Given the description of an element on the screen output the (x, y) to click on. 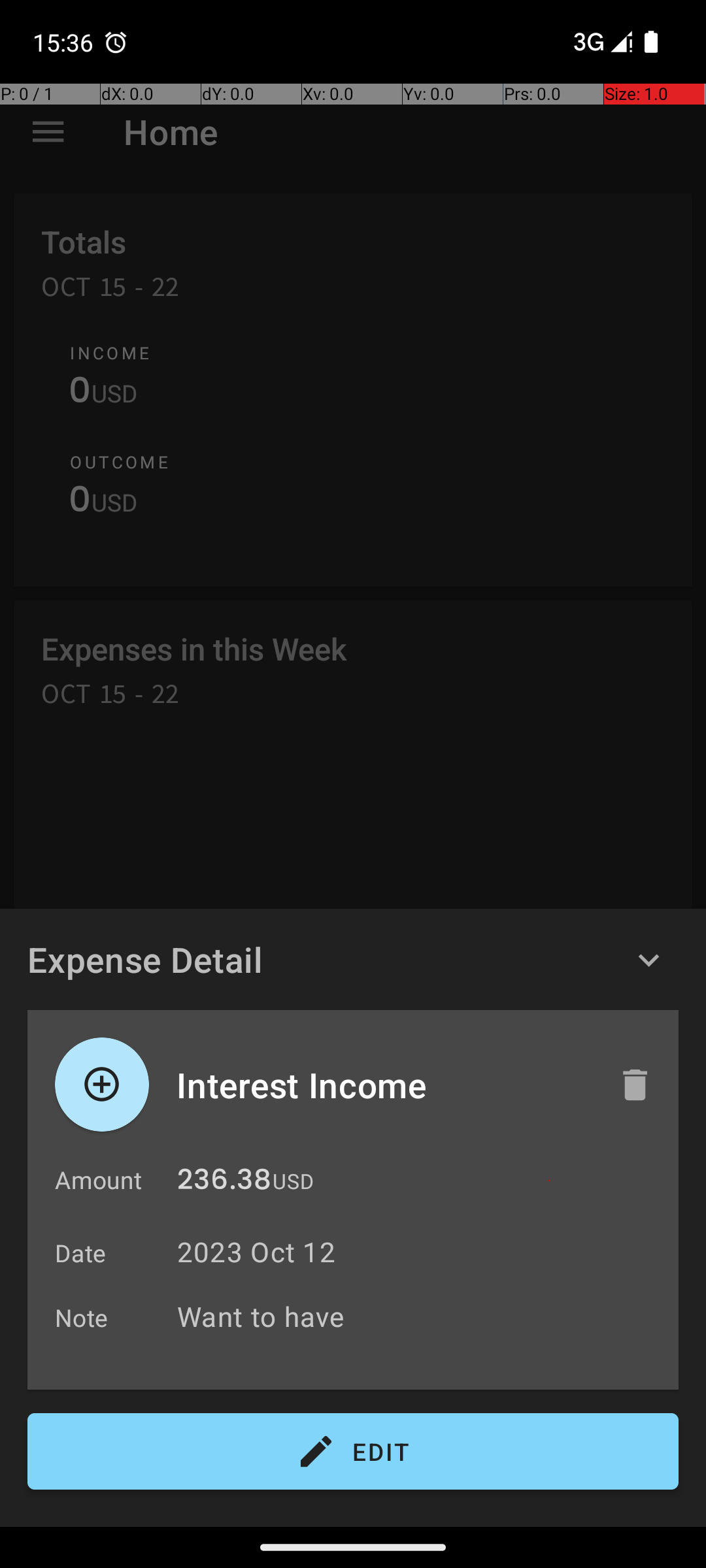
Interest Income Element type: android.widget.TextView (383, 1084)
236.38 Element type: android.widget.TextView (223, 1182)
